Given the description of an element on the screen output the (x, y) to click on. 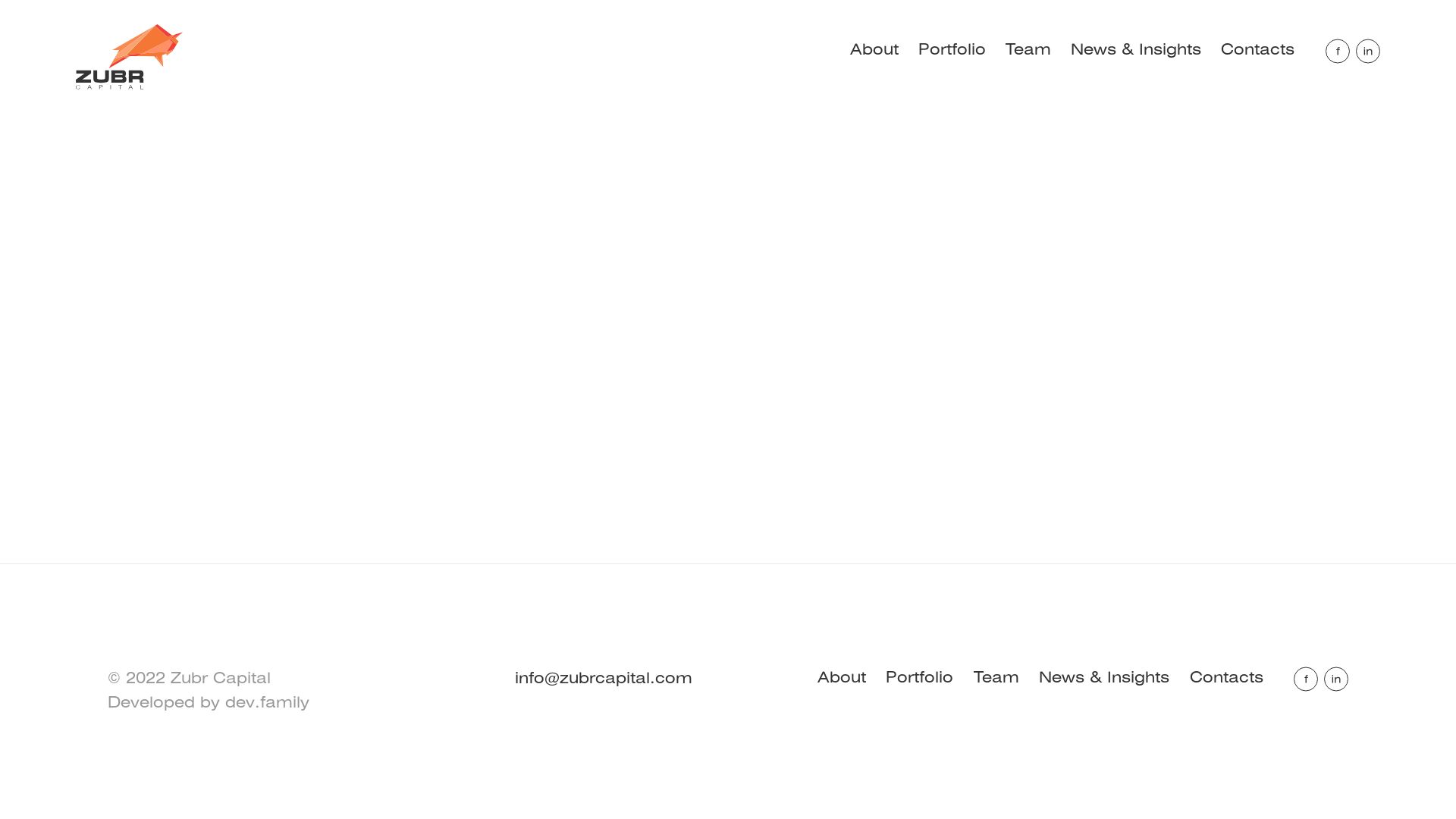
info@zubrcapital.com Element type: text (603, 678)
Team Element type: text (996, 677)
Portfolio Element type: text (919, 677)
About Element type: text (841, 677)
Contacts Element type: text (1226, 677)
News & Insights Element type: text (1103, 677)
About Element type: text (874, 49)
Developed by dev.family Element type: text (208, 703)
News & Insights Element type: text (1135, 49)
Team Element type: text (1028, 49)
Contacts Element type: text (1257, 49)
Portfolio Element type: text (951, 49)
